Given the description of an element on the screen output the (x, y) to click on. 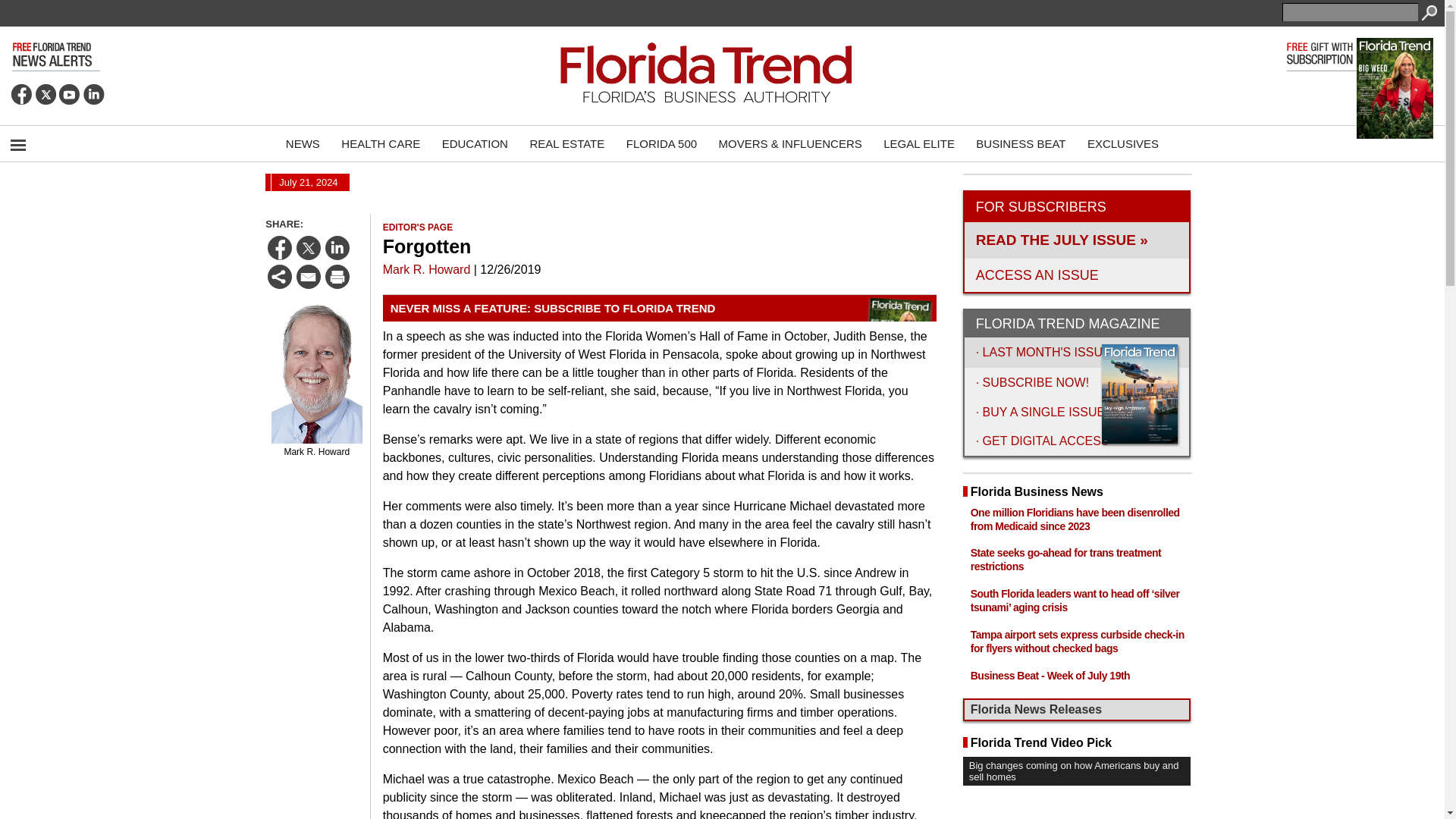
BUSINESS BEAT (1020, 143)
LinkedIn (93, 94)
HEALTH CARE (380, 143)
YouTube (69, 94)
FLORIDA 500 (661, 143)
LEGAL ELITE (919, 143)
Twitter (45, 94)
EXCLUSIVES (1122, 143)
Facebook (21, 94)
NEWS (302, 143)
EDUCATION (474, 143)
REAL ESTATE (565, 143)
